Given the description of an element on the screen output the (x, y) to click on. 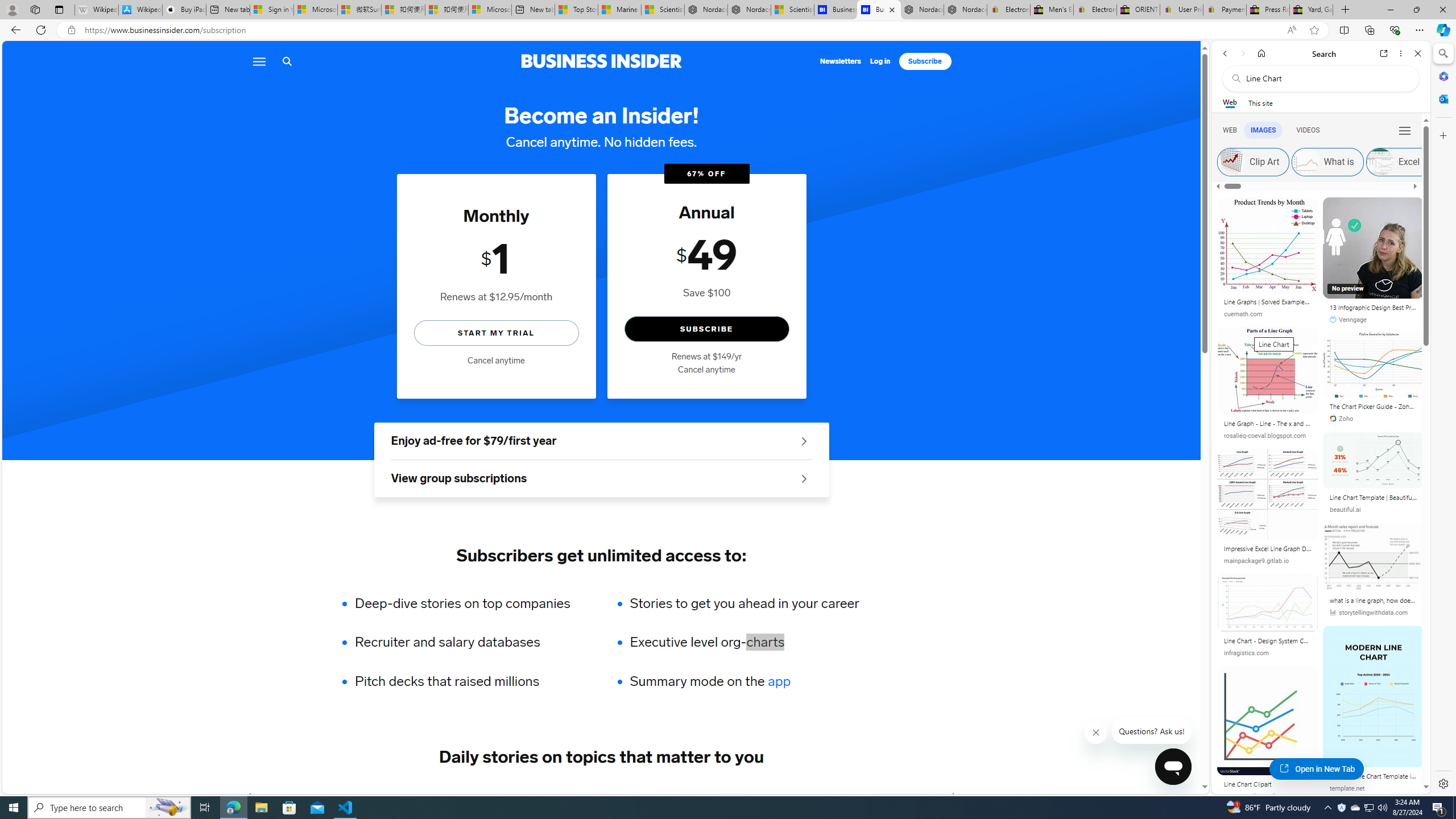
Summary mode on the app (743, 681)
template.net (1347, 787)
Preferences (1403, 129)
Line Graphs | Solved Examples | Data- Cuemath (1267, 301)
Line Chart Template | Beautiful.ai (1372, 497)
HEALTHCARE (680, 796)
Venngage (1372, 319)
Search Filter, WEB (1230, 129)
WEB (1230, 130)
Class: sc-1uf0igr-1 fjHZYk (1096, 732)
Press Room - eBay Inc. (1267, 9)
Line Chart - Design System Component (1267, 640)
The Chart Picker Guide - Zoho Blog (1372, 406)
